Given the description of an element on the screen output the (x, y) to click on. 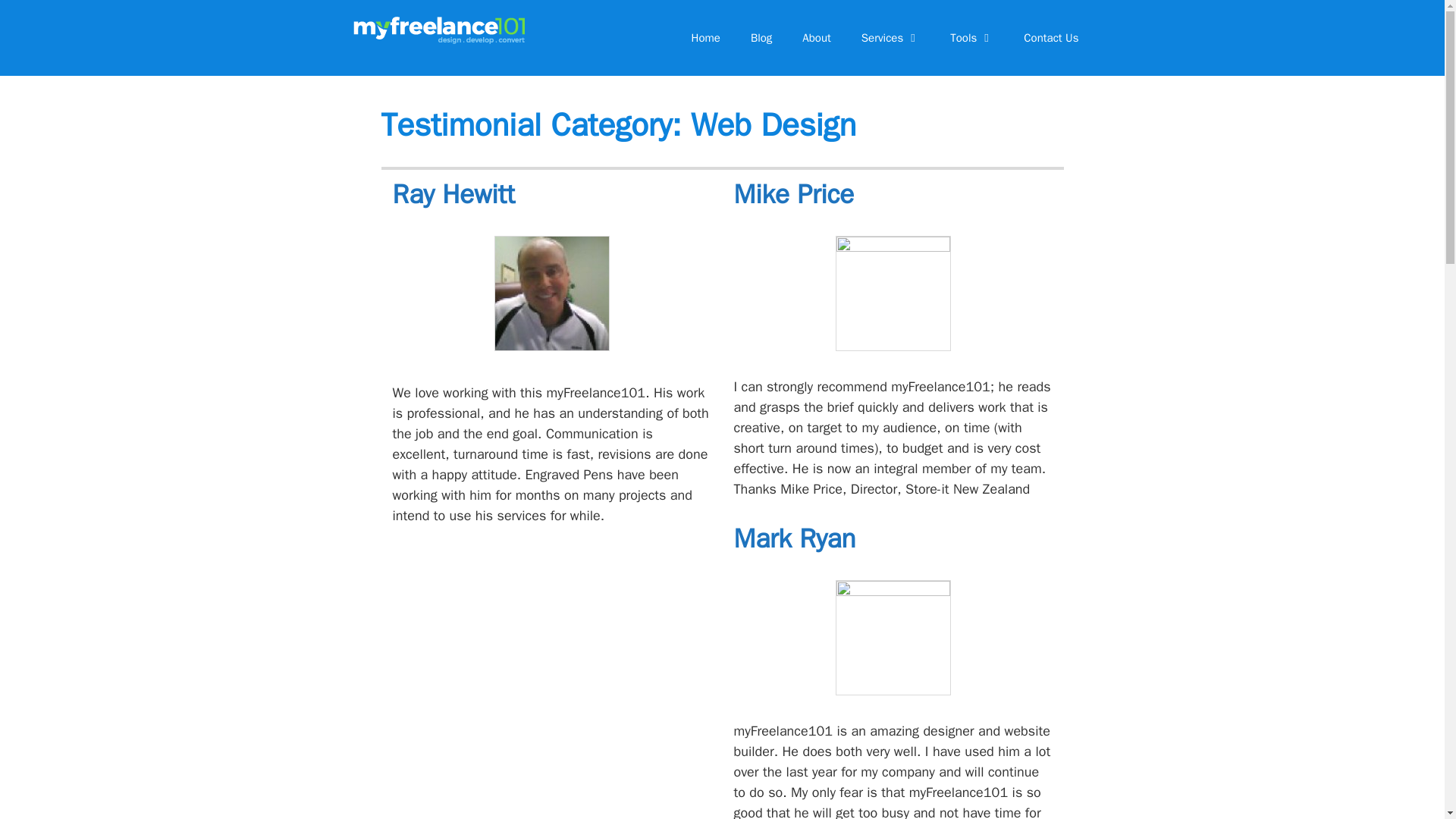
Ray Hewitt (454, 193)
About (816, 37)
Services (889, 37)
Mark Ryan (794, 538)
Blog (761, 37)
Contact Us (1051, 37)
Home (706, 37)
Mike Price (793, 193)
Tools (971, 37)
